Given the description of an element on the screen output the (x, y) to click on. 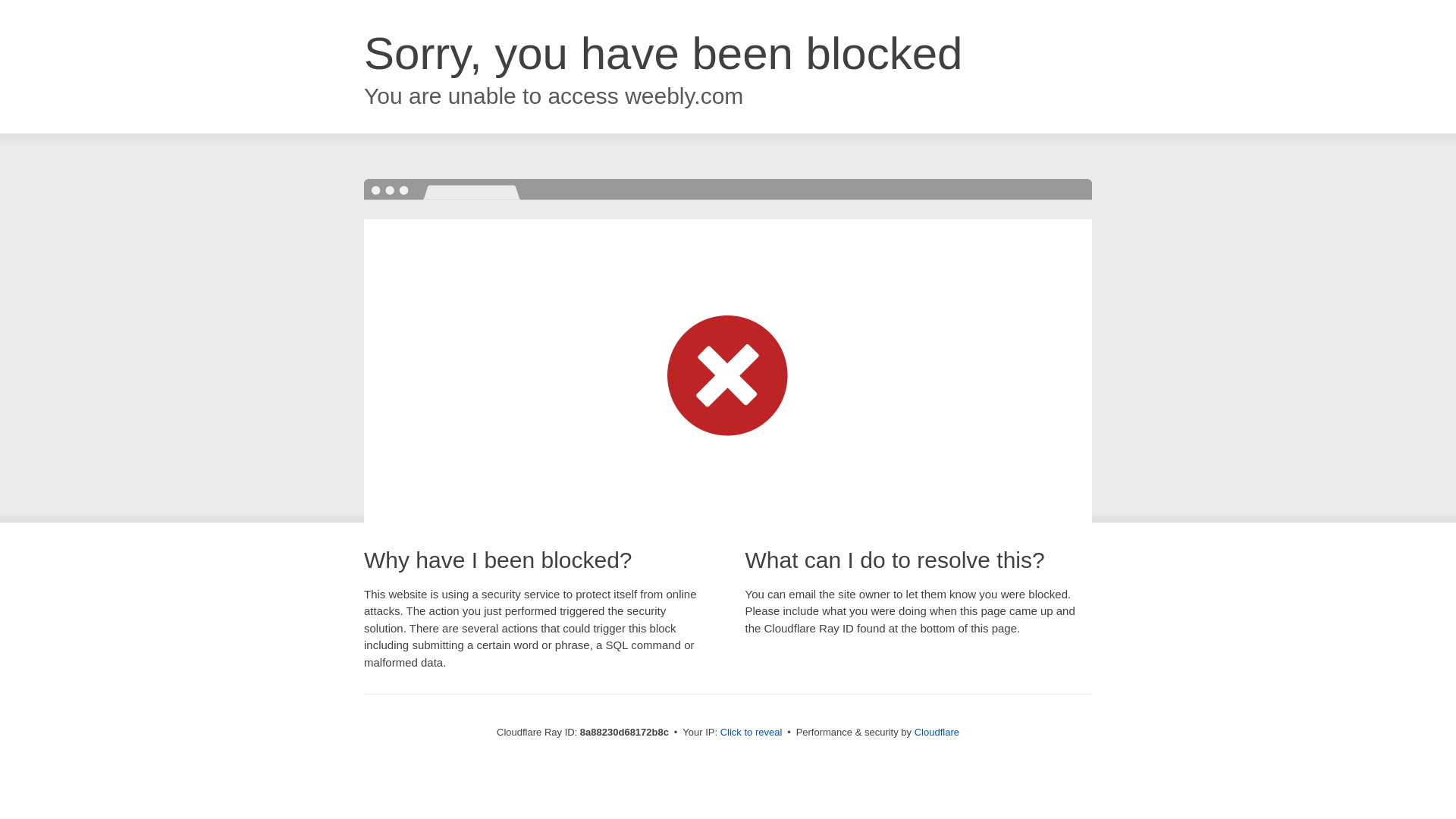
Click to reveal (751, 732)
Cloudflare (936, 731)
